Given the description of an element on the screen output the (x, y) to click on. 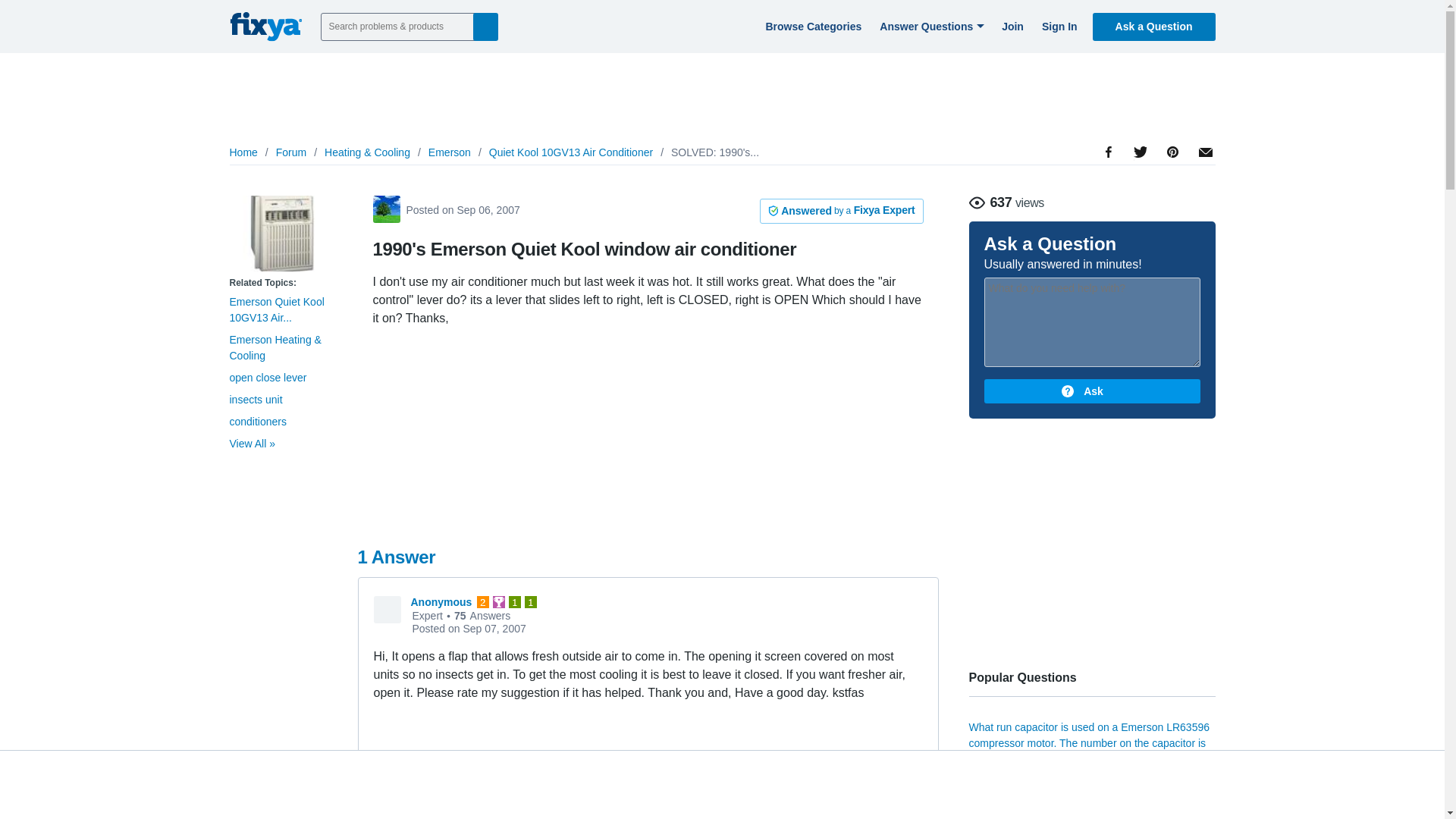
conditioners (257, 421)
Quiet Kool 10GV13 Air Conditioner (570, 152)
Search Fixya (485, 26)
Emerson Quiet Kool 10GV13 Air Conditioner (280, 233)
insects unit (255, 399)
Home (242, 152)
Forum (290, 152)
Answer Questions (929, 26)
Ask (1091, 391)
Browse Categories (810, 26)
Emerson (449, 152)
Sign In (1056, 26)
Emerson Quiet Kool 10GV13 Air... (275, 309)
Search Fixya (485, 26)
